Given the description of an element on the screen output the (x, y) to click on. 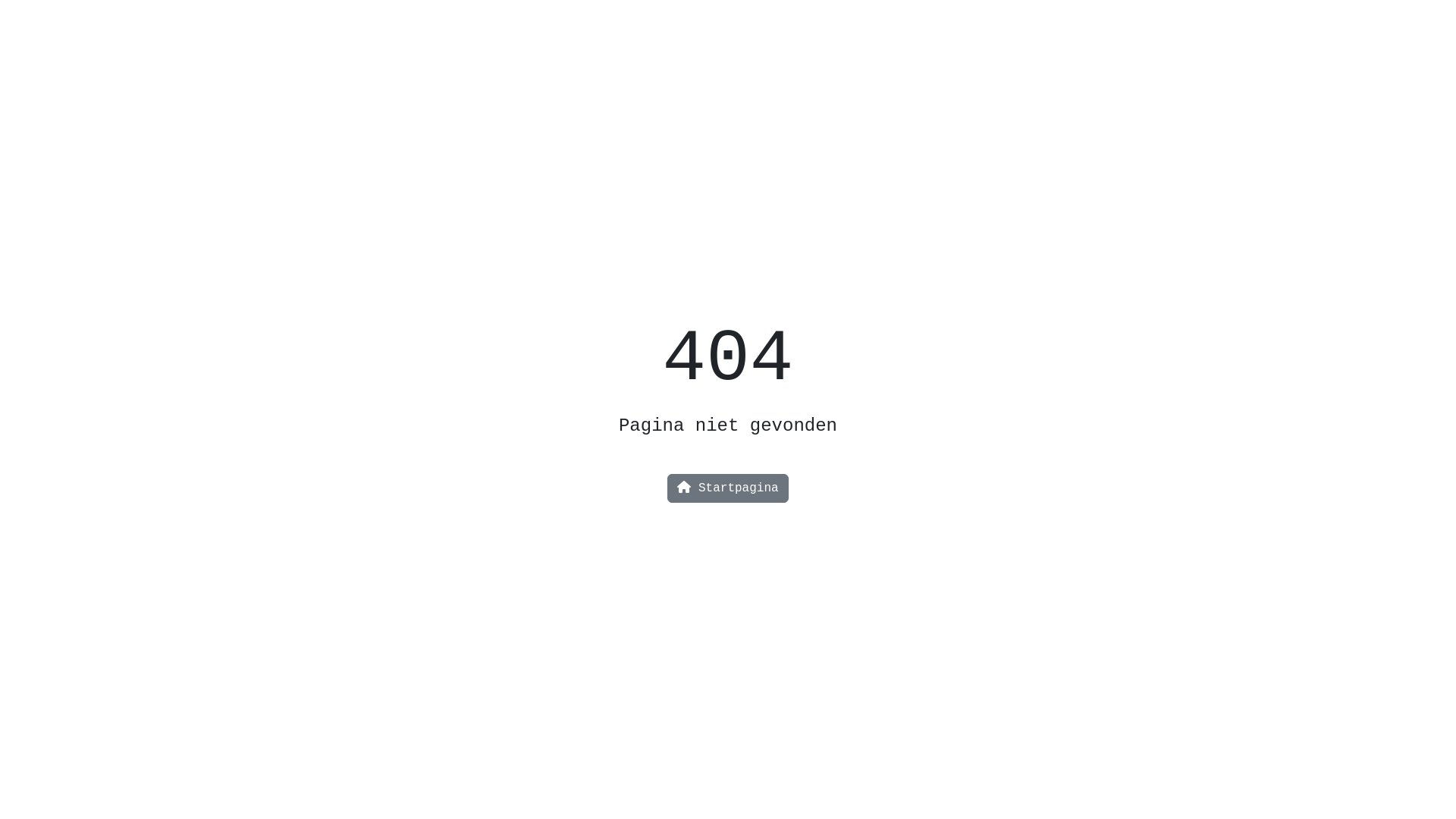
Startpagina Element type: text (727, 487)
